Given the description of an element on the screen output the (x, y) to click on. 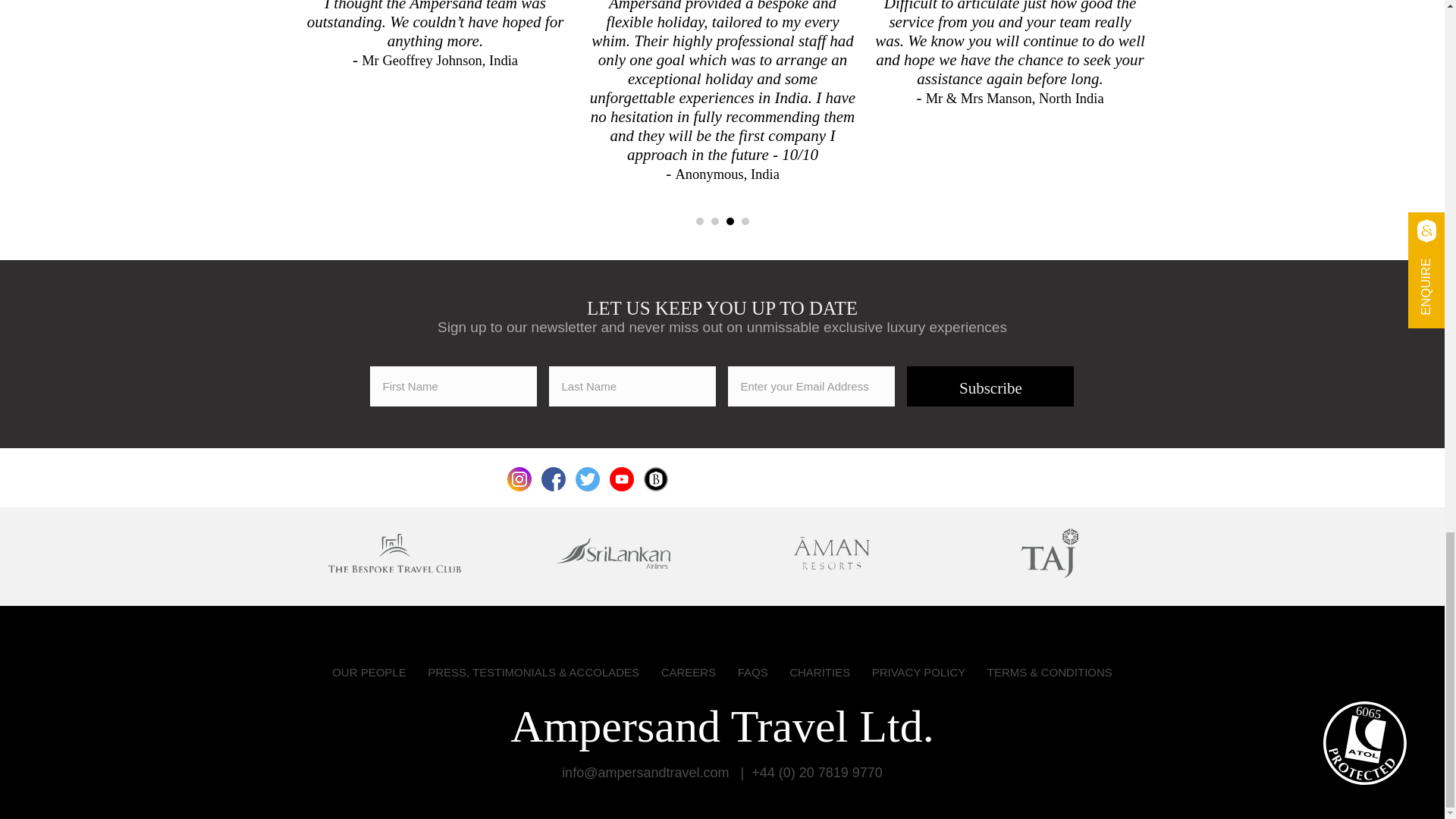
FAQs (753, 671)
Privacy Policy (919, 671)
Careers (688, 671)
Charities (819, 671)
Our People (368, 671)
